Given the description of an element on the screen output the (x, y) to click on. 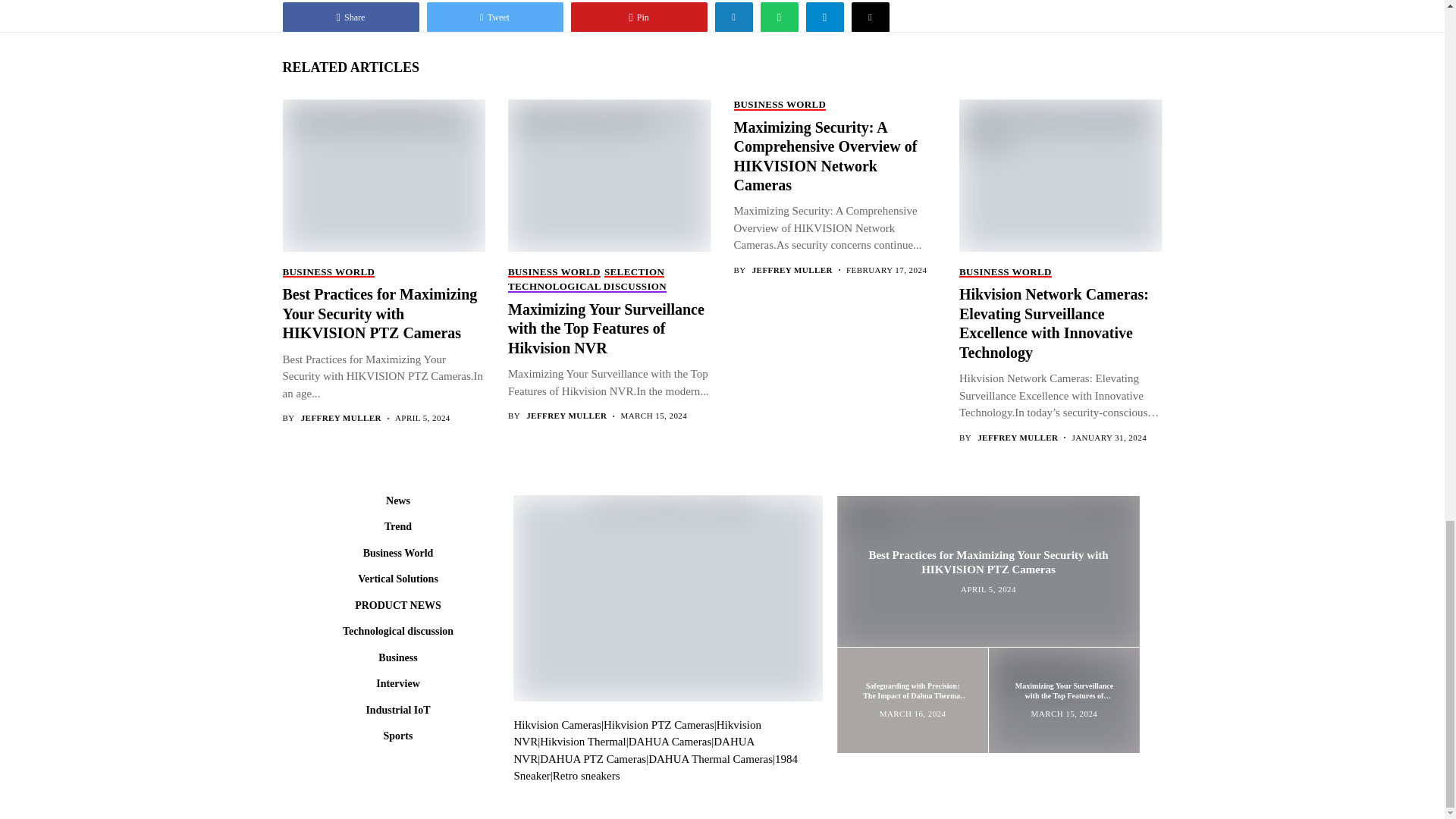
HIKVISION Cameras (557, 725)
Posts by Jeffrey Muller (341, 418)
Posts by Jeffrey Muller (1017, 437)
Posts by Jeffrey Muller (792, 270)
Posts by Jeffrey Muller (566, 415)
